Given the description of an element on the screen output the (x, y) to click on. 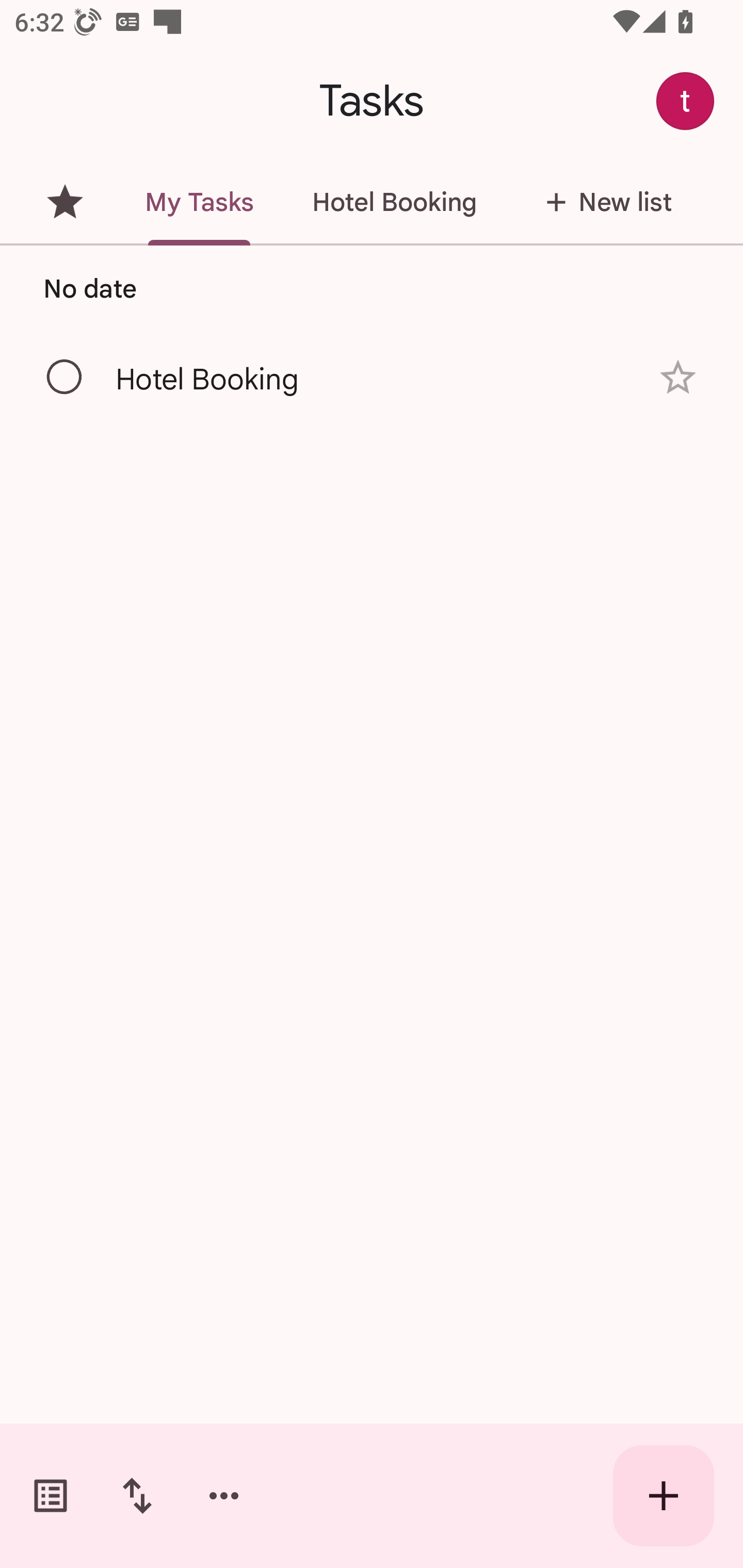
Starred (64, 202)
Hotel Booking (394, 202)
New list (602, 202)
Add star (677, 376)
Mark as complete (64, 377)
Switch task lists (50, 1495)
Create new task (663, 1495)
Change sort order (136, 1495)
More options (223, 1495)
